Given the description of an element on the screen output the (x, y) to click on. 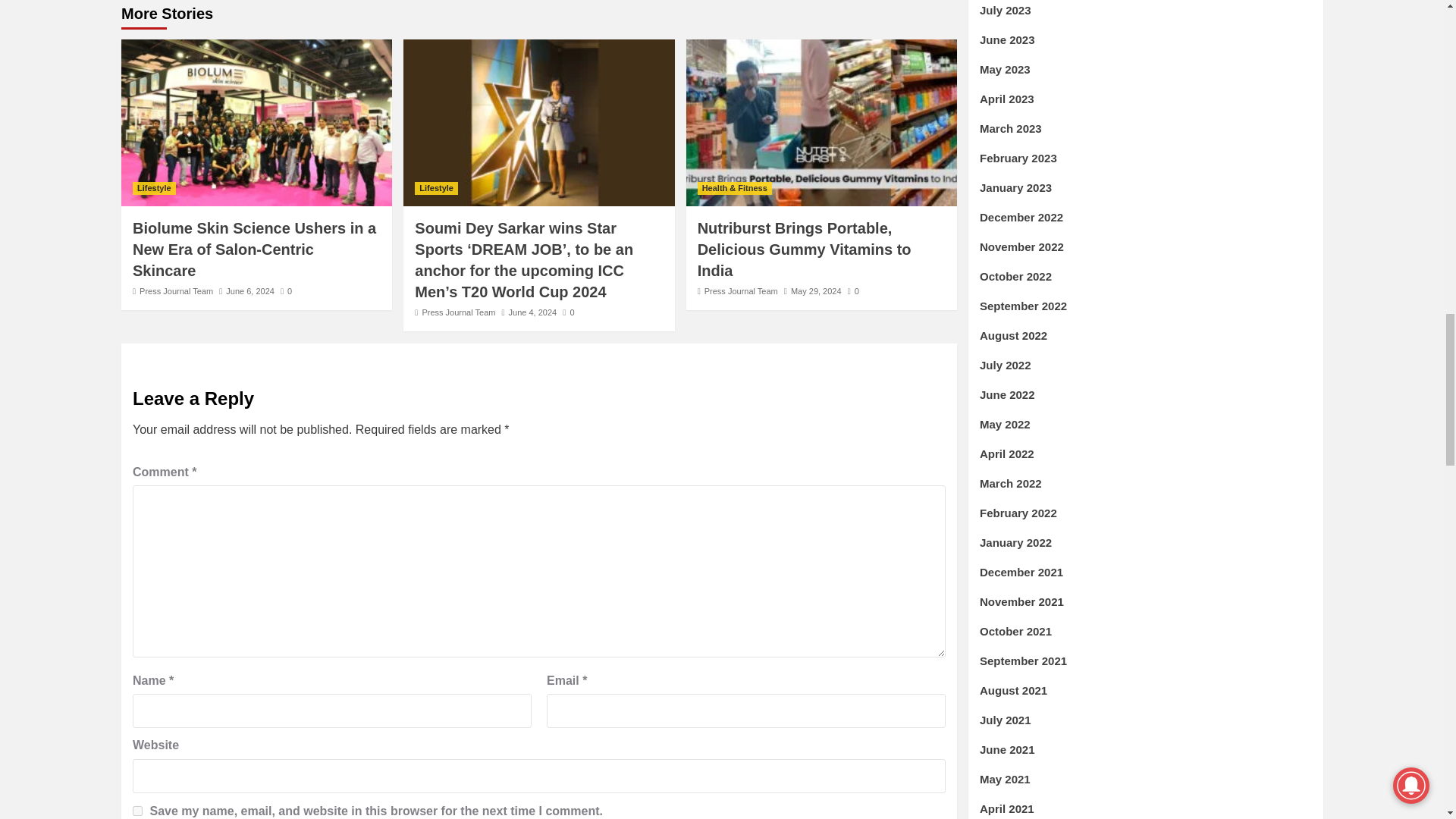
yes (137, 810)
